Given the description of an element on the screen output the (x, y) to click on. 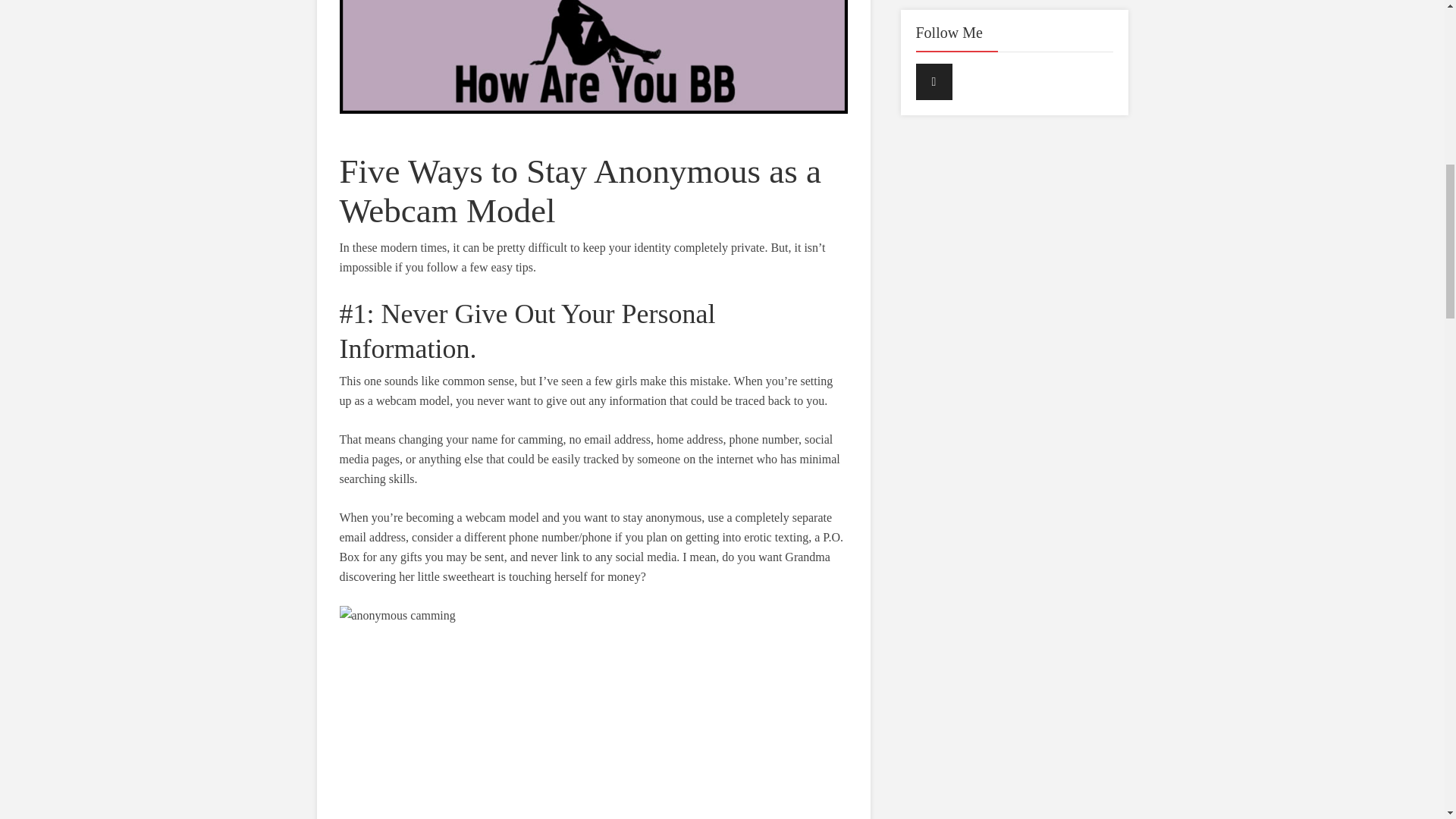
twitter (933, 81)
